Given the description of an element on the screen output the (x, y) to click on. 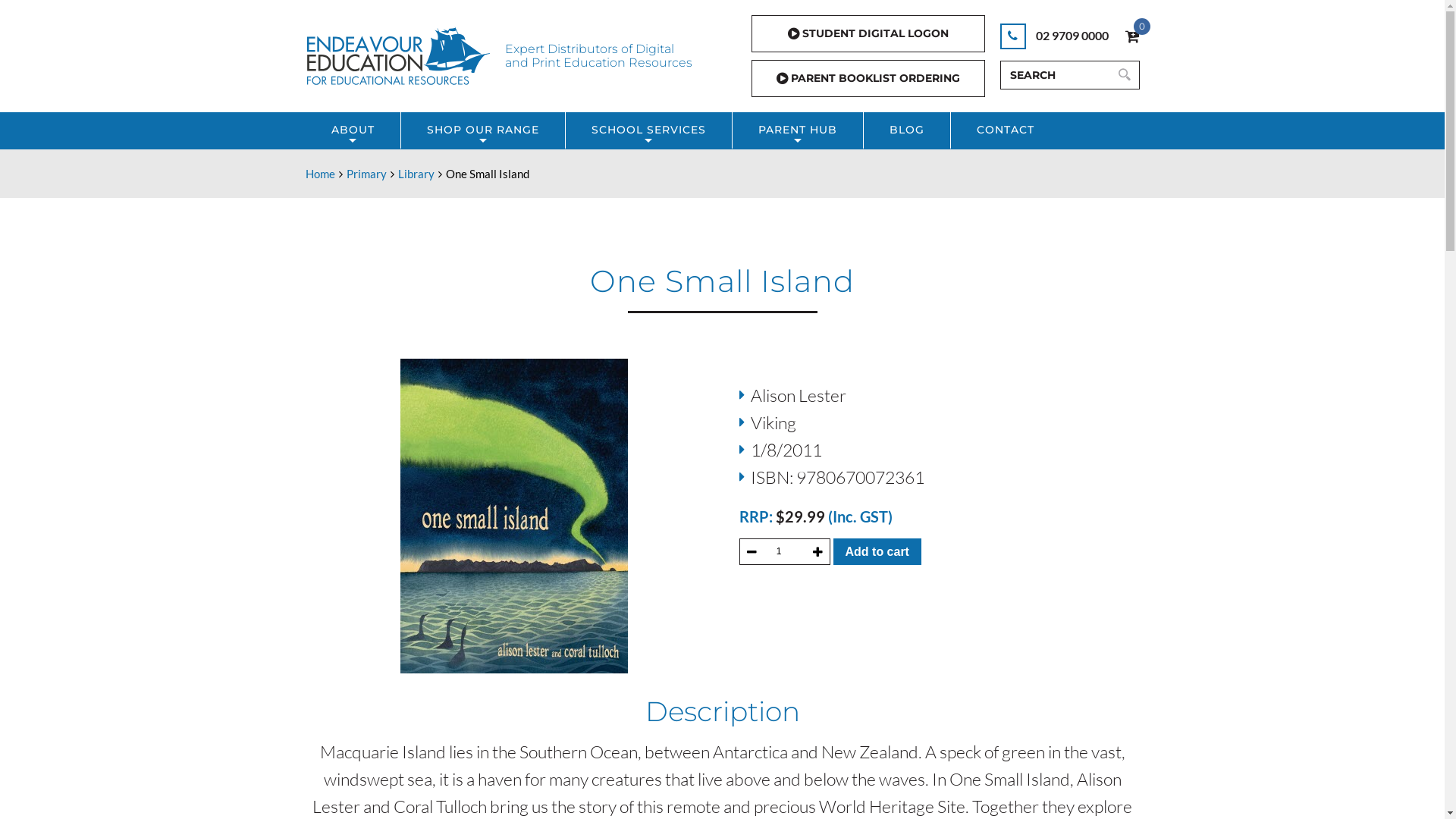
STUDENT DIGITAL LOGON Element type: text (867, 33)
Home Element type: text (319, 173)
SHOP OUR RANGE Element type: text (482, 129)
Library Element type: text (415, 173)
PARENT HUB Element type: text (797, 129)
Add to cart Element type: text (876, 551)
02 9709 0000 Element type: text (1053, 34)
CONTACT Element type: text (1005, 129)
BLOG Element type: text (905, 129)
0 Element type: text (1132, 36)
9780670072361 Element type: hover (513, 515)
Qty Element type: hover (783, 551)
ABOUT Element type: text (351, 129)
SCHOOL SERVICES Element type: text (648, 129)
Primary Element type: text (365, 173)
PARENT BOOKLIST ORDERING Element type: text (867, 78)
